Given the description of an element on the screen output the (x, y) to click on. 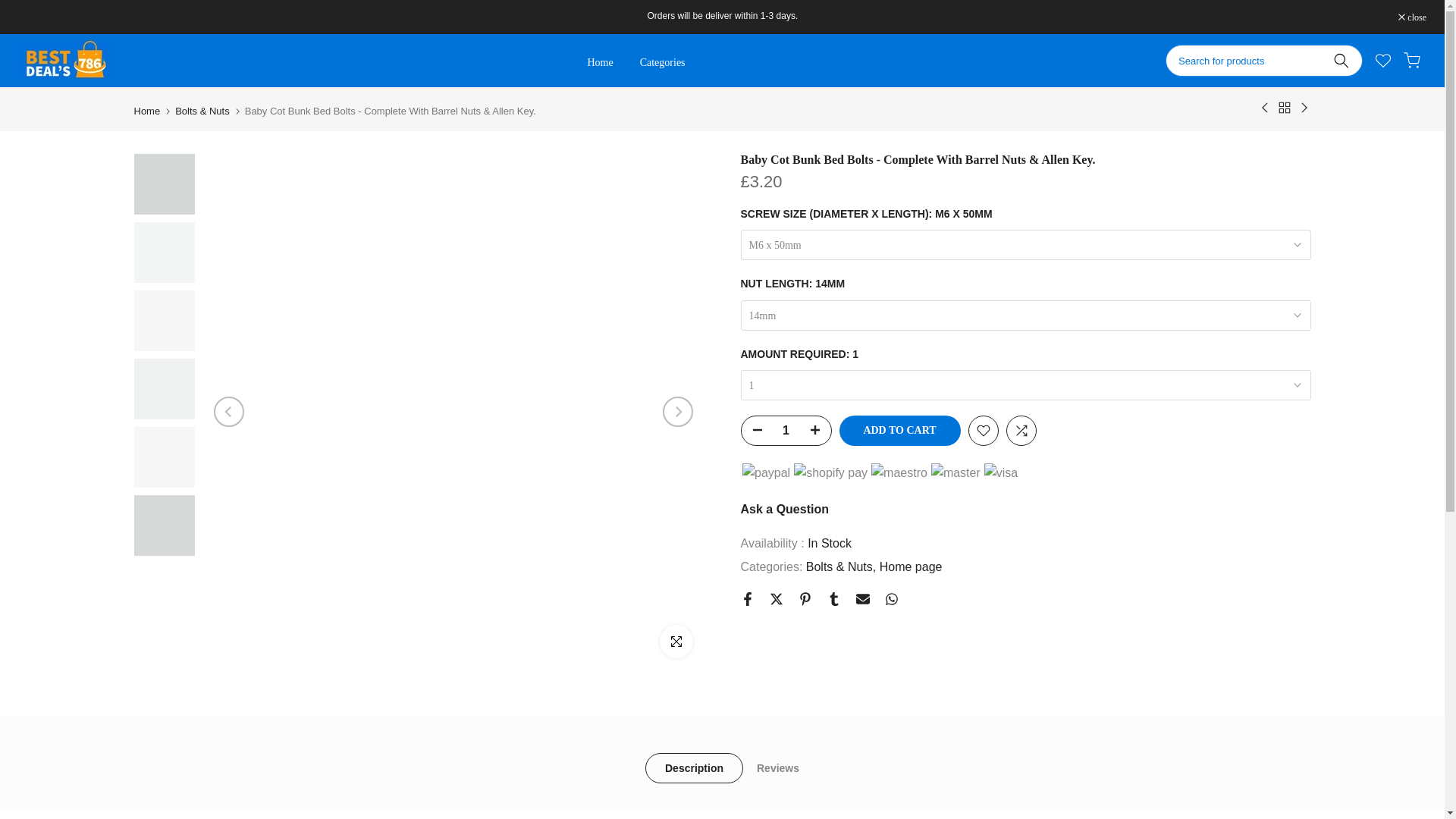
M6 x 50mm (1024, 245)
1 (786, 430)
Ask a Question (783, 508)
Share on Pinterest (803, 599)
Share on Facebook (746, 599)
Skip to content (10, 7)
ADD TO CART (898, 430)
Share on Email (862, 599)
Share on WhatsApp (890, 599)
1 (1024, 385)
